Given the description of an element on the screen output the (x, y) to click on. 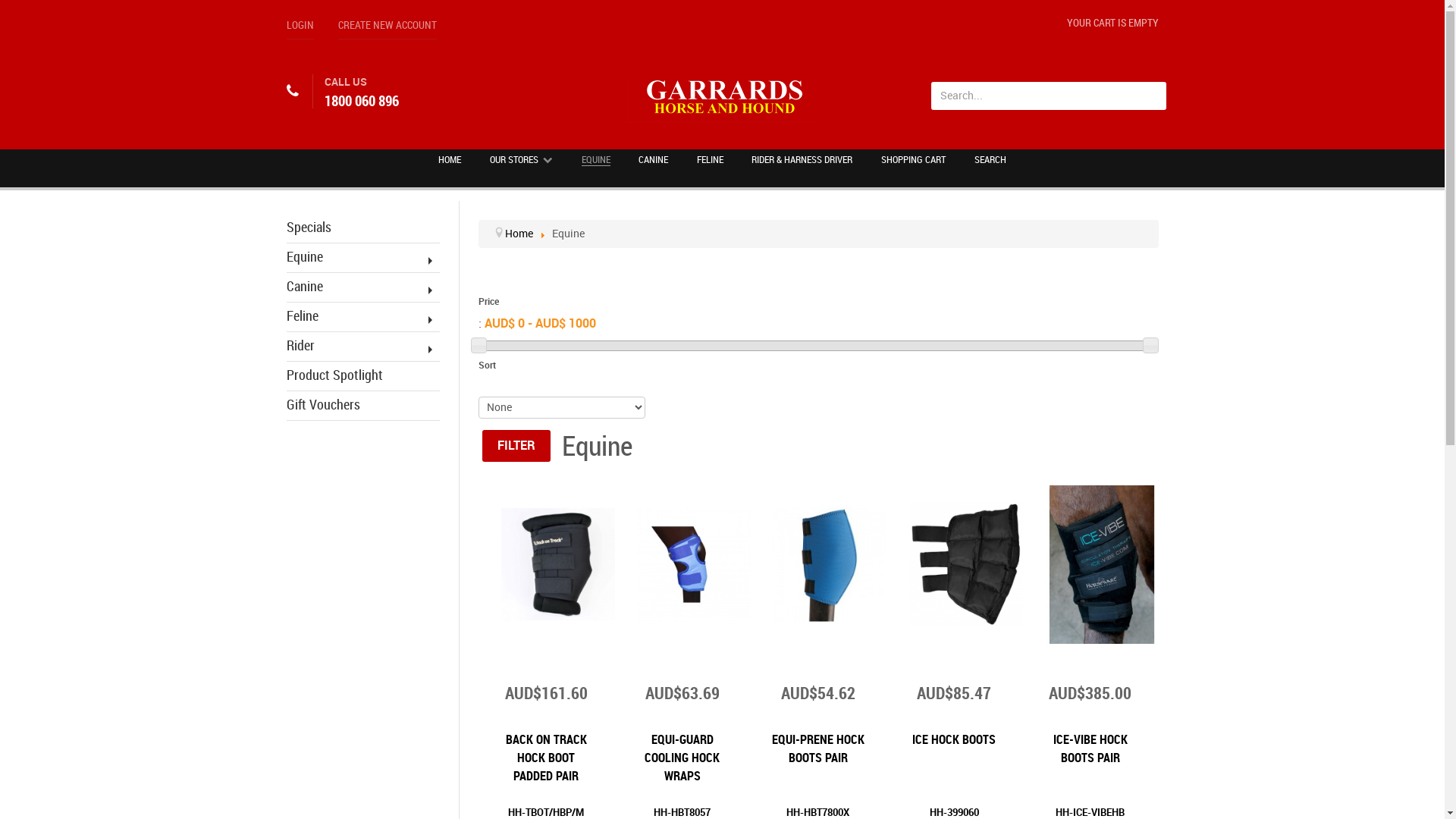
HH-ICE-VIBEHB Element type: text (1089, 812)
SHOPPING CART Element type: text (913, 159)
ICE HOCK BOOTS Element type: text (954, 740)
Home Element type: text (519, 233)
ICE-VIBE HOCK BOOTS PAIR Element type: hover (1101, 563)
EQUI-GUARD COOLING HOCK WRAPS Element type: text (681, 758)
HOME Element type: text (449, 159)
HH-399060 Element type: text (954, 812)
HH-TBOT/HBP/M Element type: text (545, 812)
Canine Element type: text (362, 290)
HH-HBT8057 Element type: text (681, 812)
ICE-VIBE HOCK BOOTS PAIR Element type: text (1089, 749)
EQUI-PRENE HOCK BOOTS PAIR Element type: text (817, 749)
ICE HOCK BOOTS Element type: hover (965, 563)
Rider Element type: text (362, 349)
EQUINE Element type: text (595, 159)
SEARCH Element type: text (990, 159)
BACK ON TRACK HOCK BOOT PADDED PAIR Element type: hover (557, 563)
Filter Element type: text (516, 445)
BACK ON TRACK HOCK BOOT PADDED PAIR Element type: text (546, 758)
Feline Element type: text (362, 320)
FELINE Element type: text (709, 159)
Product Spotlight Element type: text (362, 379)
RIDER & HARNESS DRIVER Element type: text (801, 159)
LOGIN Element type: text (299, 28)
CANINE Element type: text (653, 159)
EQUI-GUARD COOLING HOCK WRAPS Element type: hover (693, 563)
OUR STORES Element type: text (520, 159)
Specials Element type: text (362, 231)
HH-HBT7800X Element type: text (817, 812)
Equine Element type: text (362, 261)
Equi-Prene Hock Boots Pair Element type: hover (829, 563)
MONTHLY SPECIALS Element type: text (418, 19)
CREATE NEW ACCOUNT Element type: text (387, 28)
Gift Vouchers Element type: text (362, 408)
